Given the description of an element on the screen output the (x, y) to click on. 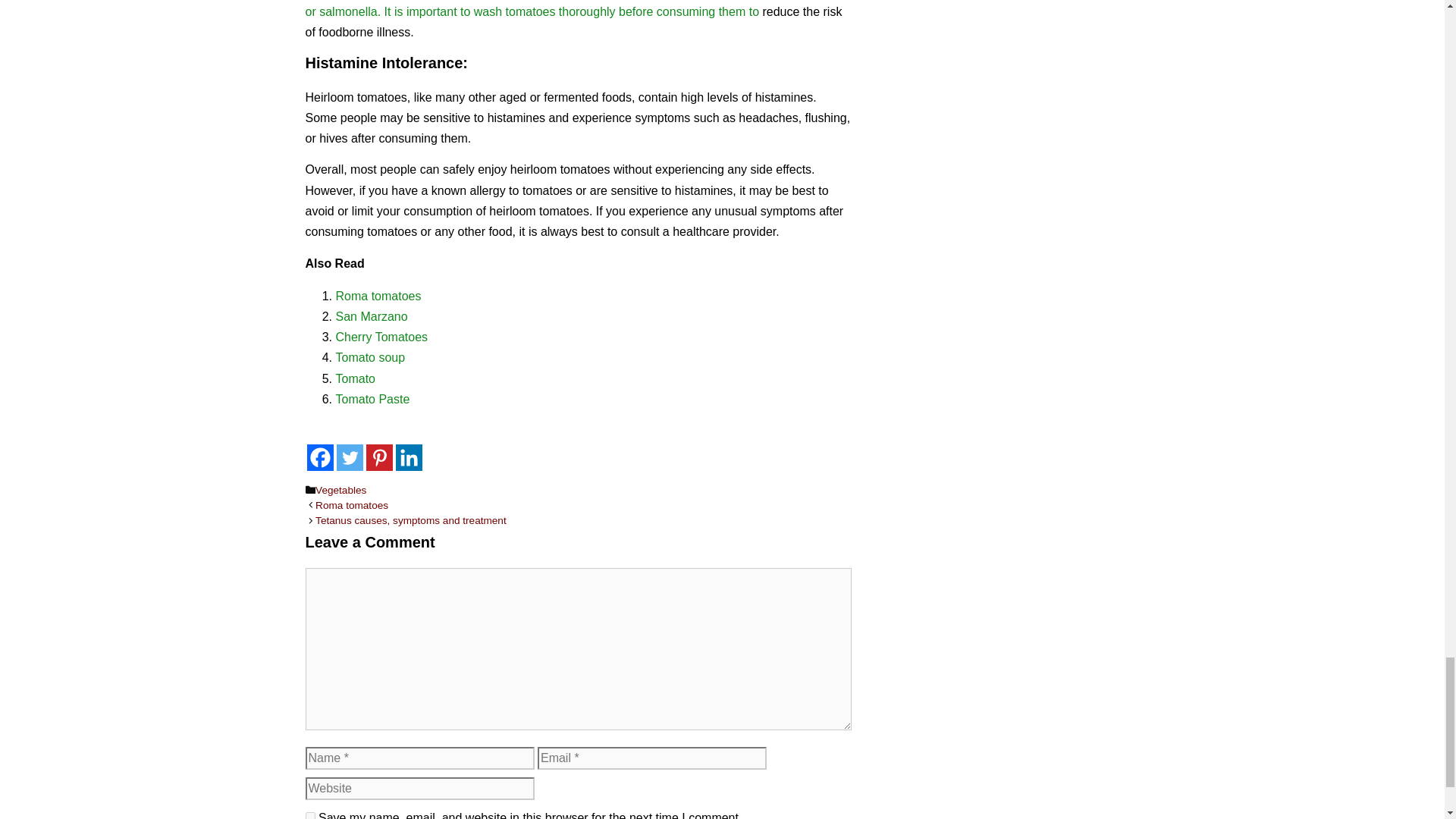
San Marzano (370, 316)
Vegetables (340, 490)
Tomato (354, 378)
Linkedin (409, 457)
Twitter (349, 457)
Roma tomatoes (351, 505)
Roma tomatoes (377, 295)
Tomato Paste (371, 399)
Cherry Tomatoes (381, 336)
Tetanus causes, symptoms and treatment (410, 520)
Tomato soup (369, 357)
yes (309, 815)
Pinterest (378, 457)
Facebook (319, 457)
